Given the description of an element on the screen output the (x, y) to click on. 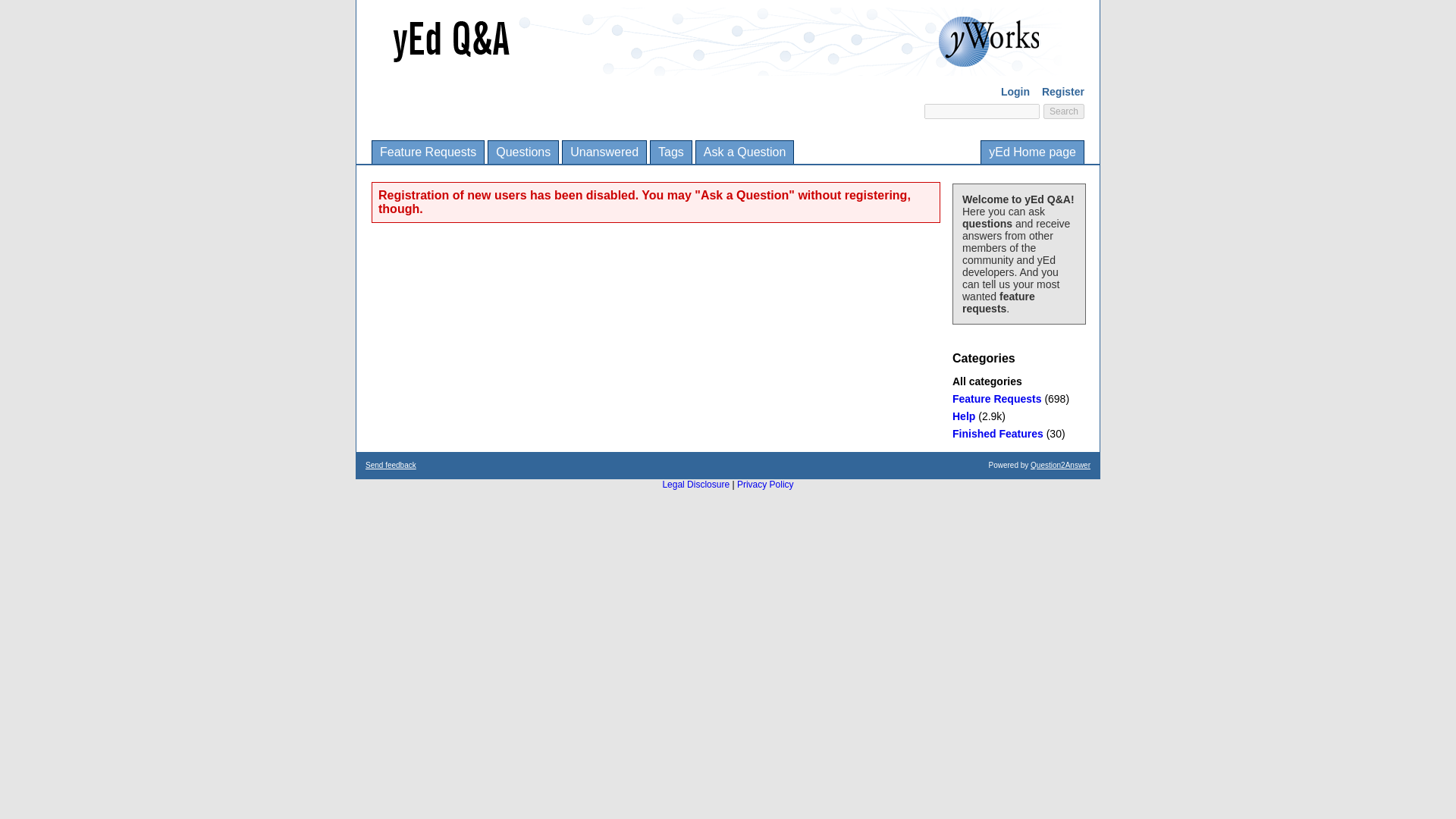
Search (1063, 111)
Legal Disclosure (695, 484)
Tags (670, 151)
Register (1063, 91)
Request a new feature for yEd here. (996, 398)
Search (1063, 111)
Question2Answer (1060, 465)
Feature Requests (996, 398)
Search (1063, 111)
Feature requests from yEd users that are now implemented. (997, 433)
yEd Home page (1032, 151)
Ask a Question (744, 151)
Unanswered (604, 151)
Privacy Policy (764, 484)
Finished Features (997, 433)
